Given the description of an element on the screen output the (x, y) to click on. 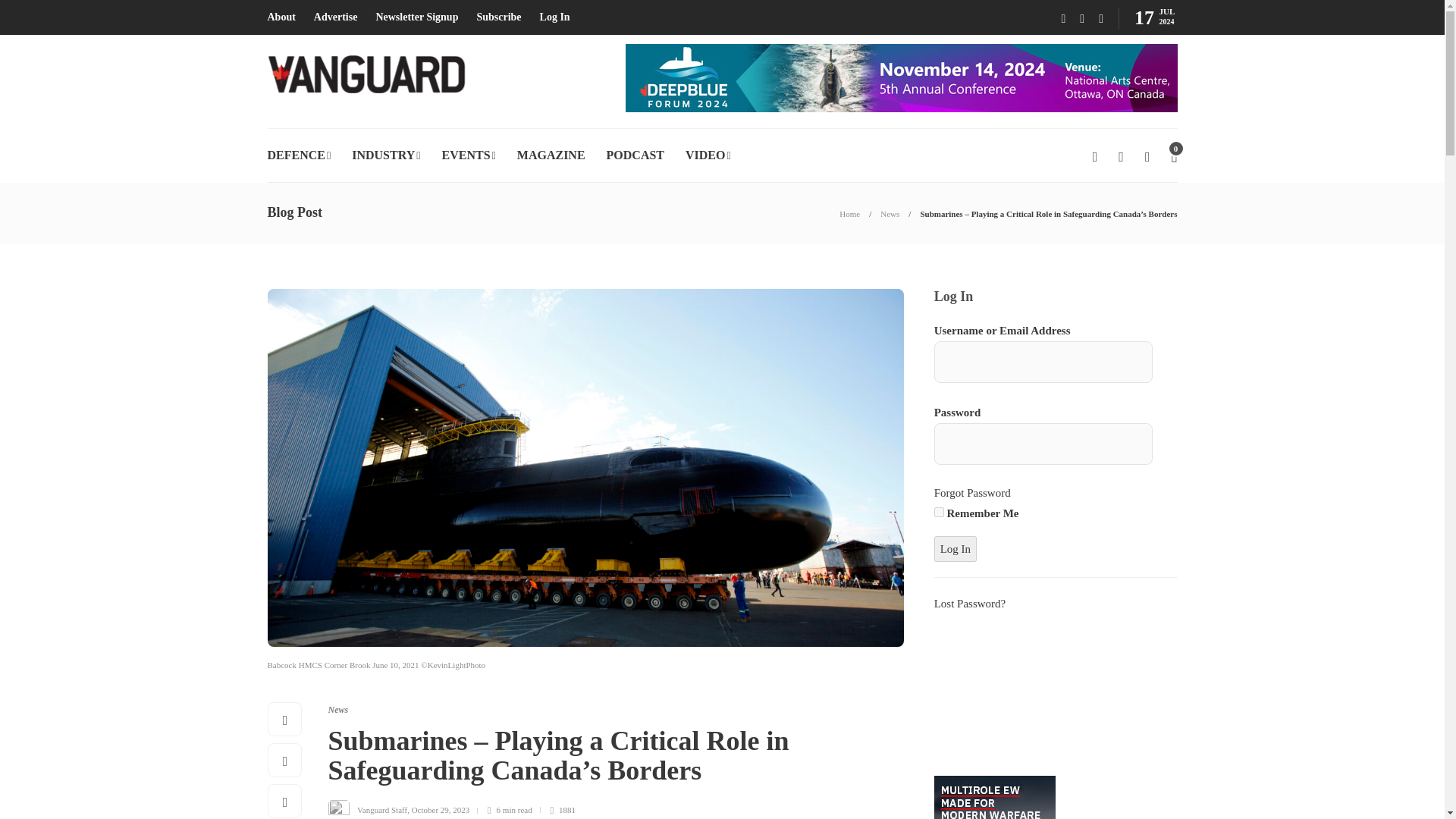
Log In (955, 548)
forever (938, 511)
Home (850, 213)
